Given the description of an element on the screen output the (x, y) to click on. 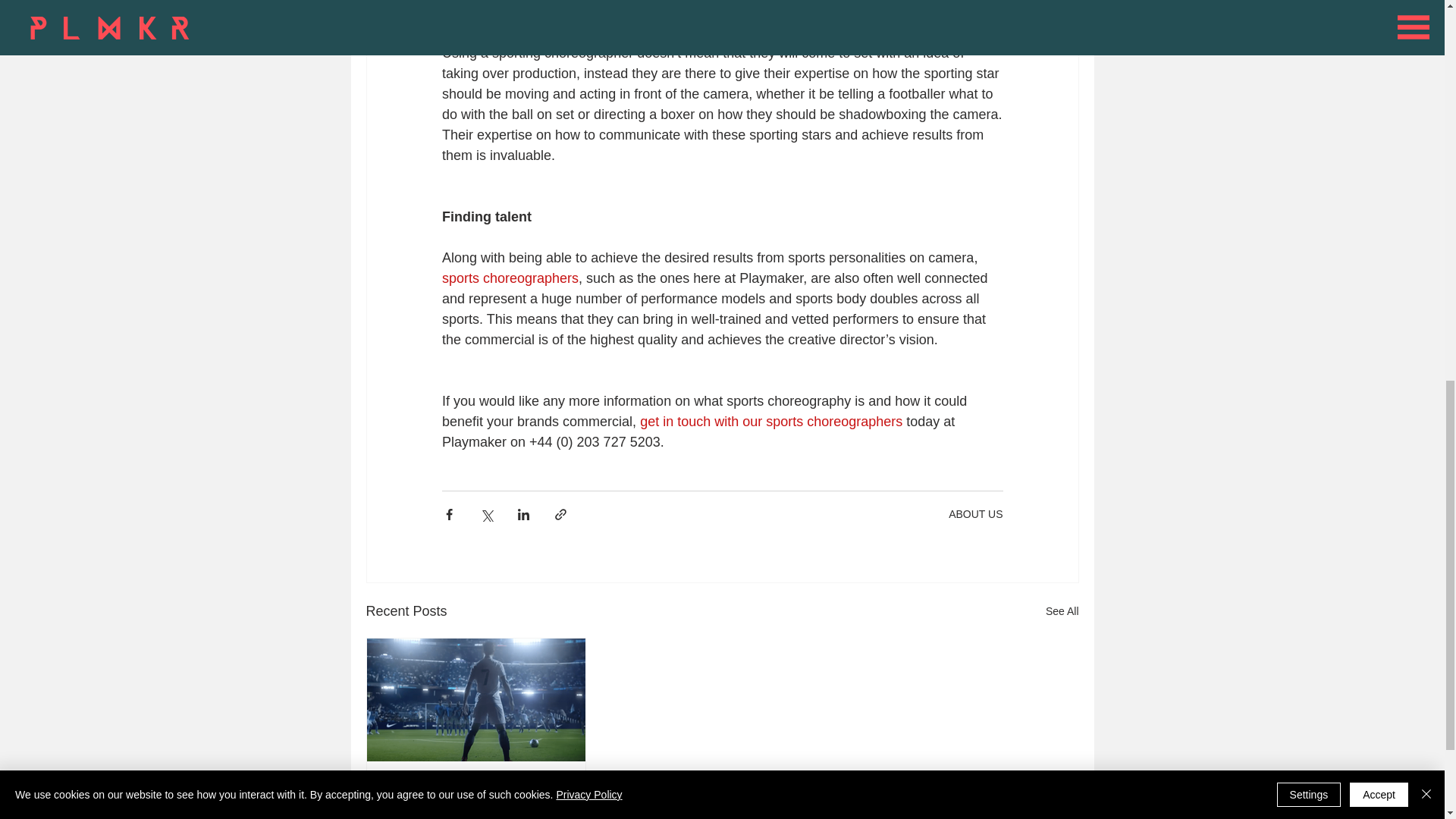
get in touch with our sports choreographers (771, 421)
Nike - The King of Sports Commercials (476, 795)
sports choreographers (509, 278)
See All (1061, 611)
ABOUT US (976, 513)
